Given the description of an element on the screen output the (x, y) to click on. 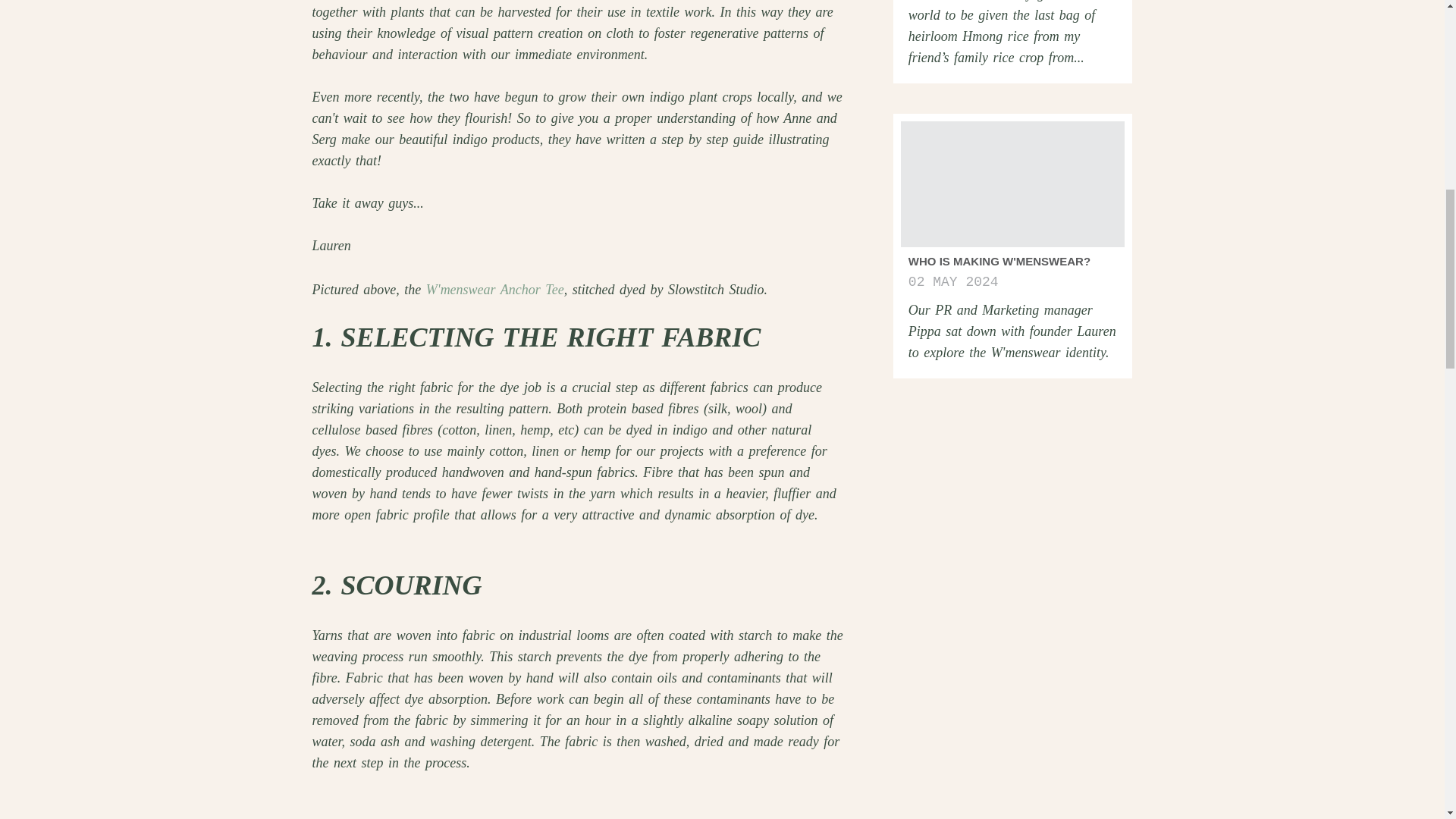
W'menswear Anchor Tee (495, 289)
